Given the description of an element on the screen output the (x, y) to click on. 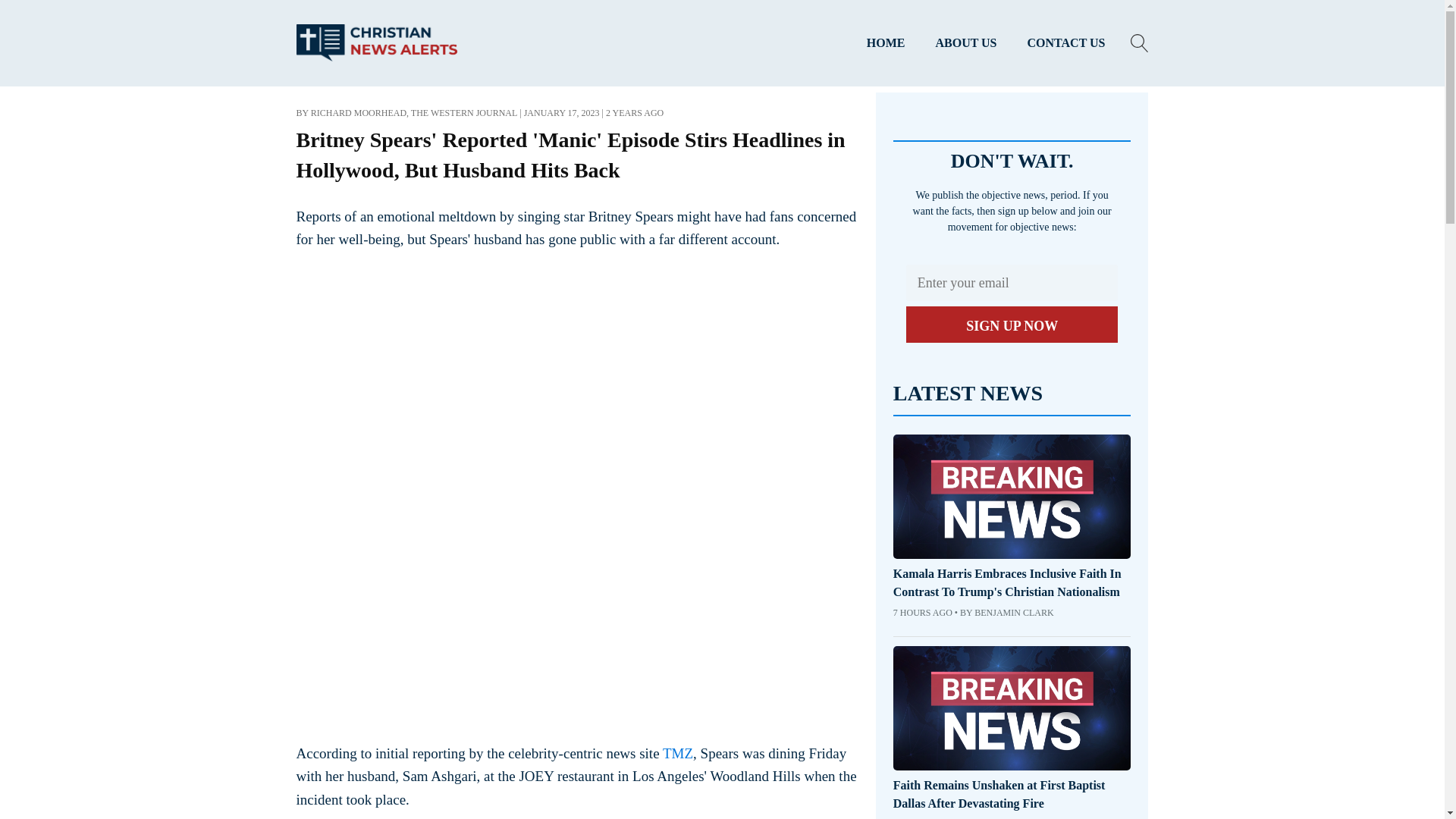
SIGN UP NOW (1011, 324)
SIGN UP NOW (1011, 324)
TMZ (677, 753)
ABOUT US (965, 43)
RICHARD MOORHEAD, THE WESTERN JOURNAL (414, 112)
CONTACT US (1066, 43)
